Given the description of an element on the screen output the (x, y) to click on. 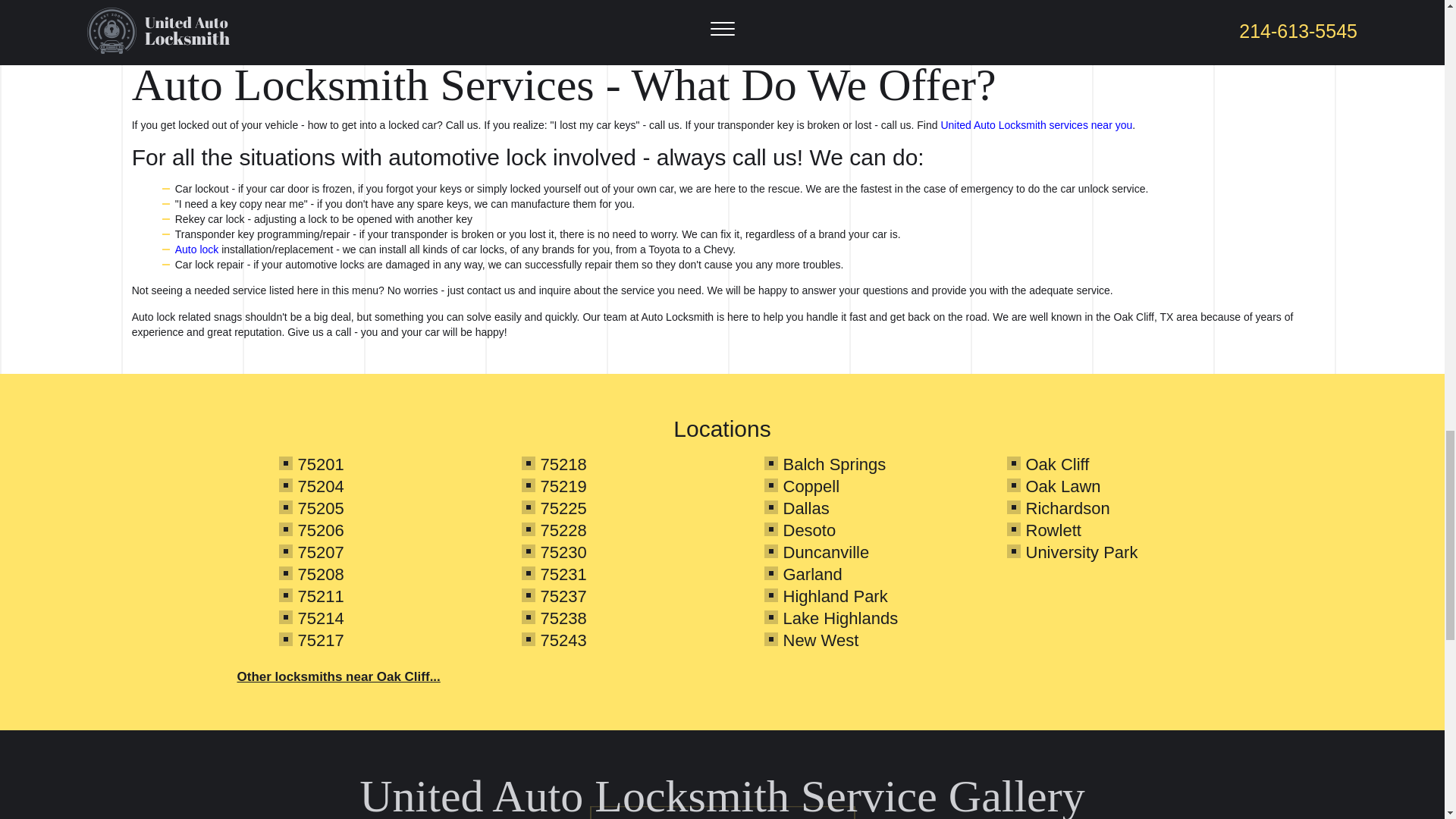
Locksmith in 75205, TX (320, 507)
Locksmith in 75204, TX (320, 486)
75204 (320, 486)
Auto lock (196, 249)
Locksmith in 75211, TX (320, 596)
Locksmith in 75237, TX (563, 596)
Locksmith in 75206, TX (320, 529)
Locksmith in 75207, TX (320, 551)
75201 (320, 464)
Locksmith in 75225, TX (563, 507)
